Given the description of an element on the screen output the (x, y) to click on. 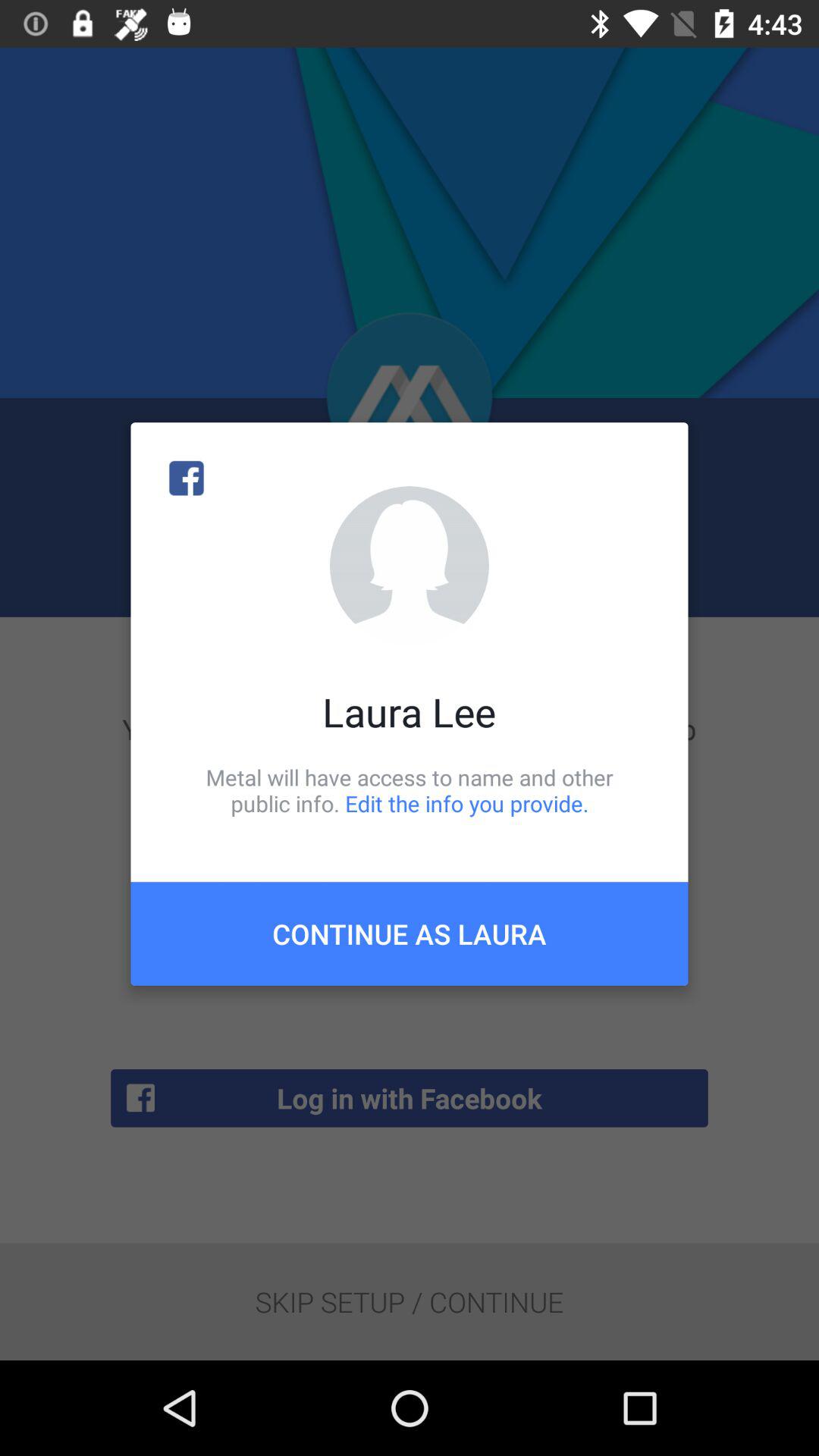
turn on continue as laura item (409, 933)
